Given the description of an element on the screen output the (x, y) to click on. 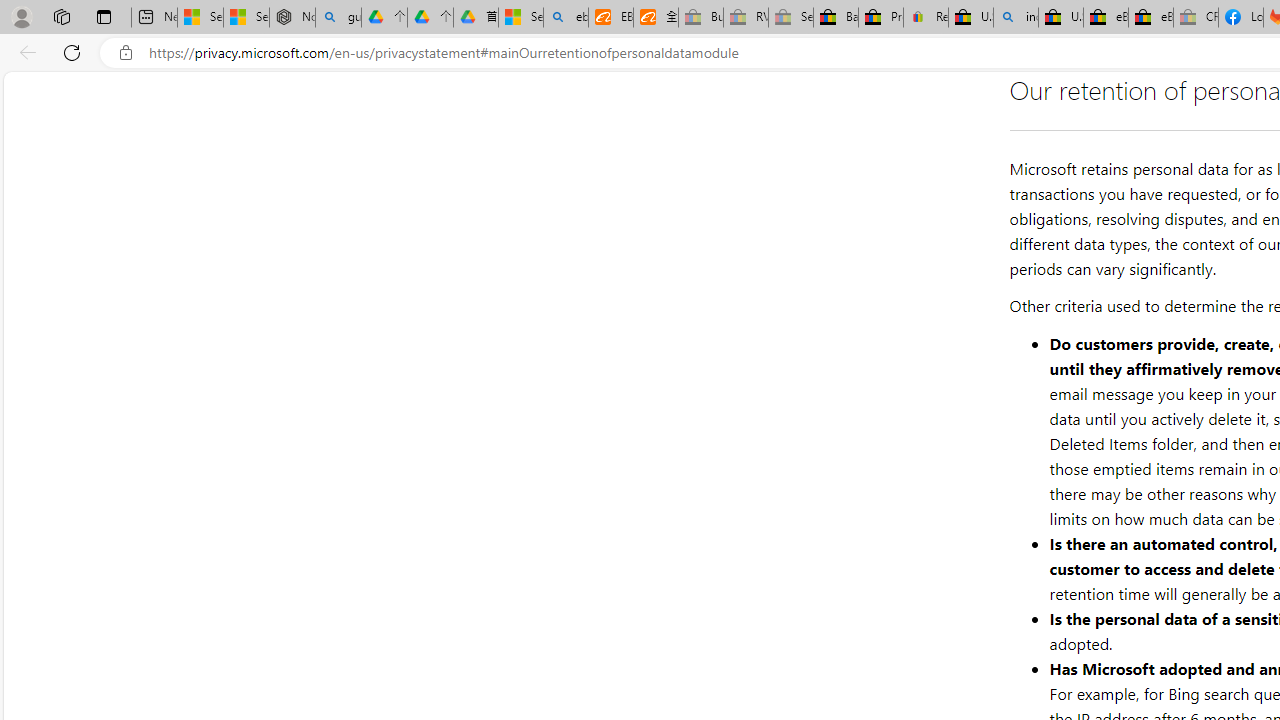
Register: Create a personal eBay account (925, 17)
U.S. State Privacy Disclosures - eBay Inc. (1060, 17)
including - Search (1016, 17)
